Given the description of an element on the screen output the (x, y) to click on. 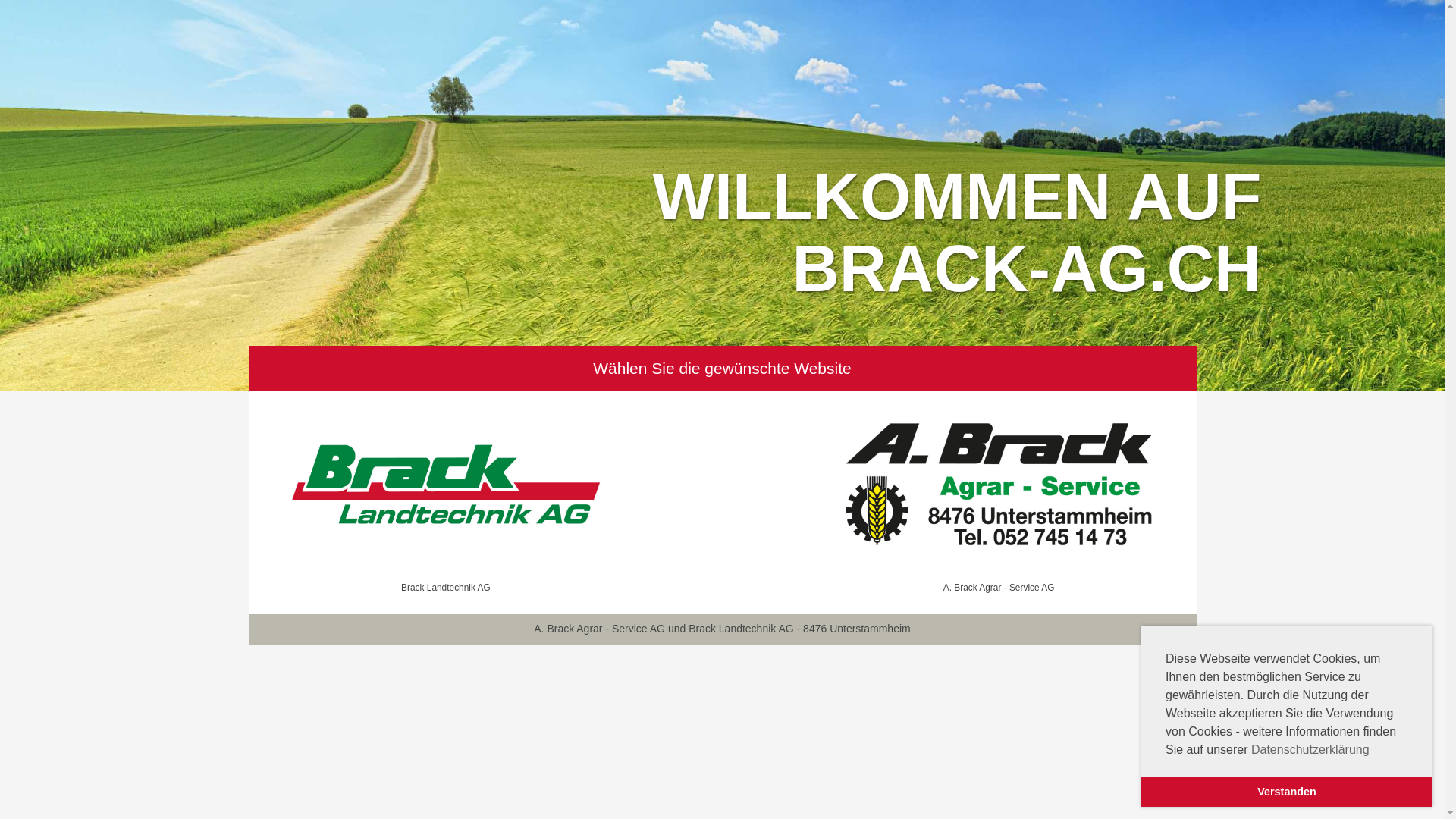
Verstanden Element type: text (1286, 791)
A. Brack Agrar - Service AG Element type: text (998, 495)
Brack Landtechnik AG Element type: text (445, 495)
